Given the description of an element on the screen output the (x, y) to click on. 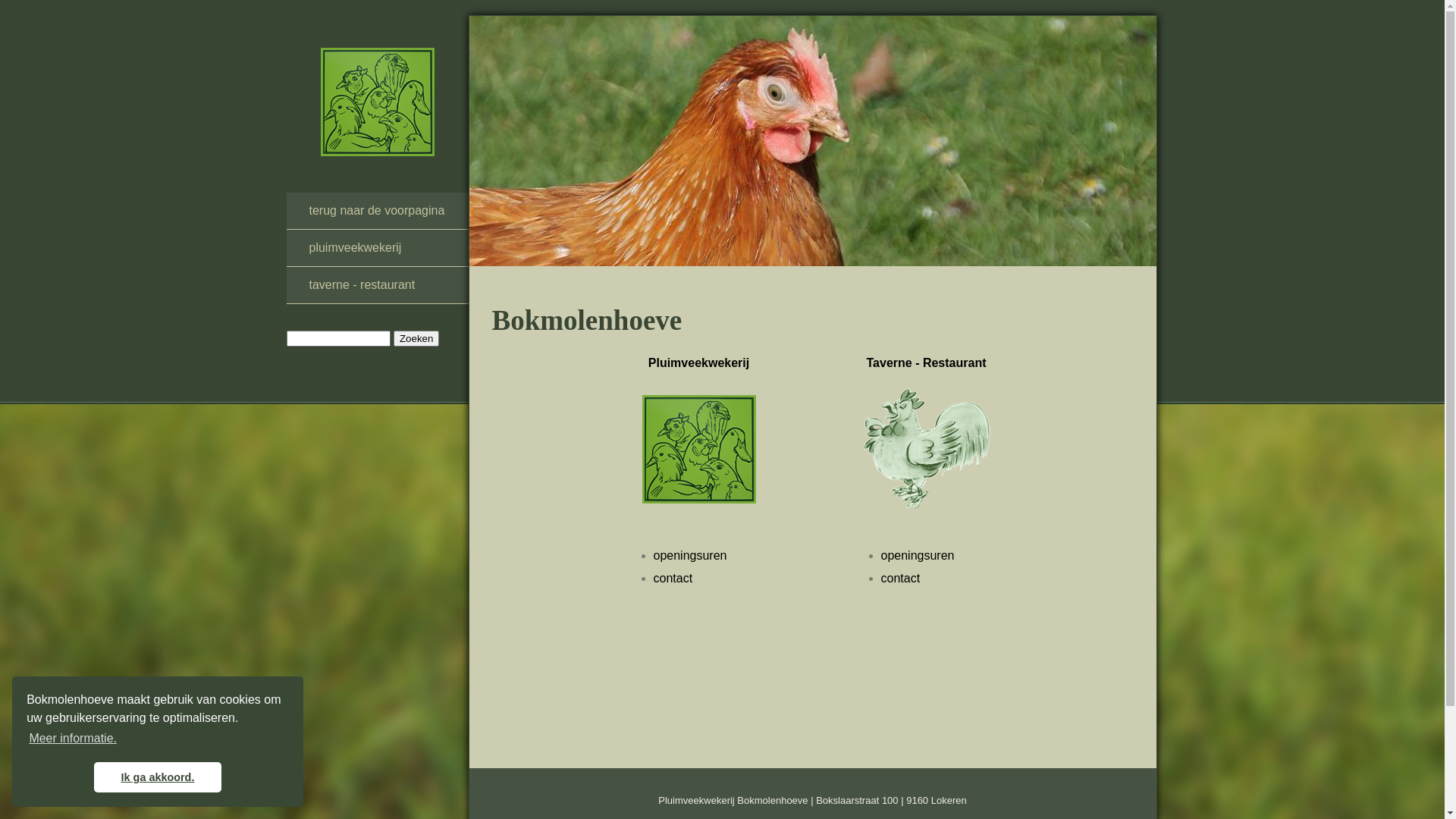
taverne - restaurant Element type: text (377, 284)
Pluimveekwekerij Bokmolenhoeve  Element type: hover (376, 102)
Geef de woorden op waarnaar u wilt zoeken. Element type: hover (338, 338)
Meer informatie. Element type: text (72, 738)
terug naar de voorpagina Element type: text (377, 210)
Taverne - Restaurant Element type: text (925, 362)
Zoeken Element type: text (416, 338)
contact Element type: text (900, 577)
Pluimveekwekerij Element type: text (698, 362)
contact Element type: text (673, 577)
Overslaan en naar de inhoud gaan Element type: text (93, 15)
openingsuren Element type: text (690, 555)
pluimveekwekerij Element type: text (377, 247)
openingsuren Element type: text (917, 555)
Ik ga akkoord. Element type: text (157, 777)
